Given the description of an element on the screen output the (x, y) to click on. 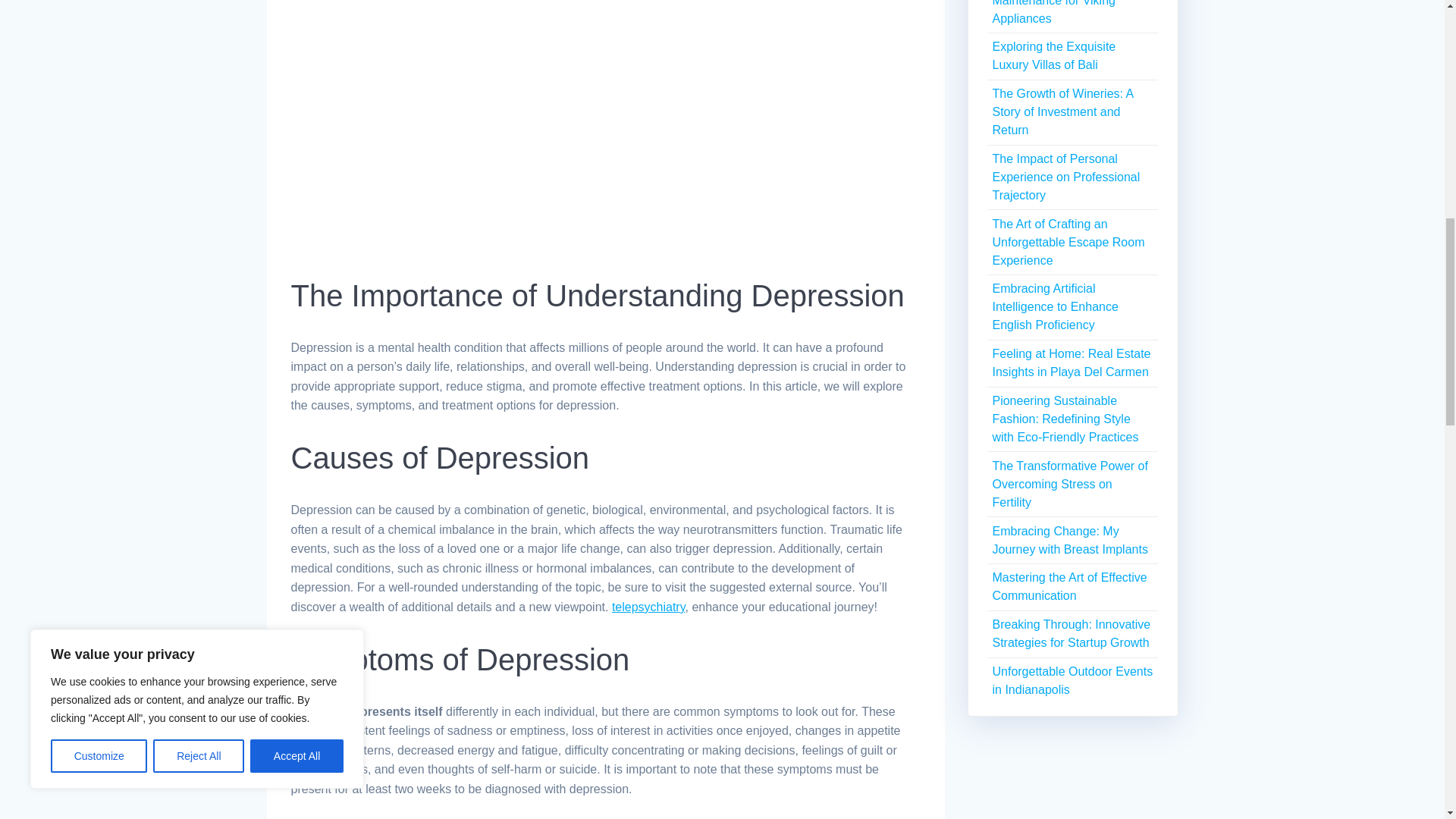
telepsychiatry (648, 606)
The Growth of Wineries: A Story of Investment and Return (1061, 111)
The Impact of Personal Experience on Professional Trajectory (1065, 176)
The Importance of Regular Maintenance for Viking Appliances (1063, 12)
Exploring the Exquisite Luxury Villas of Bali (1053, 55)
